Given the description of an element on the screen output the (x, y) to click on. 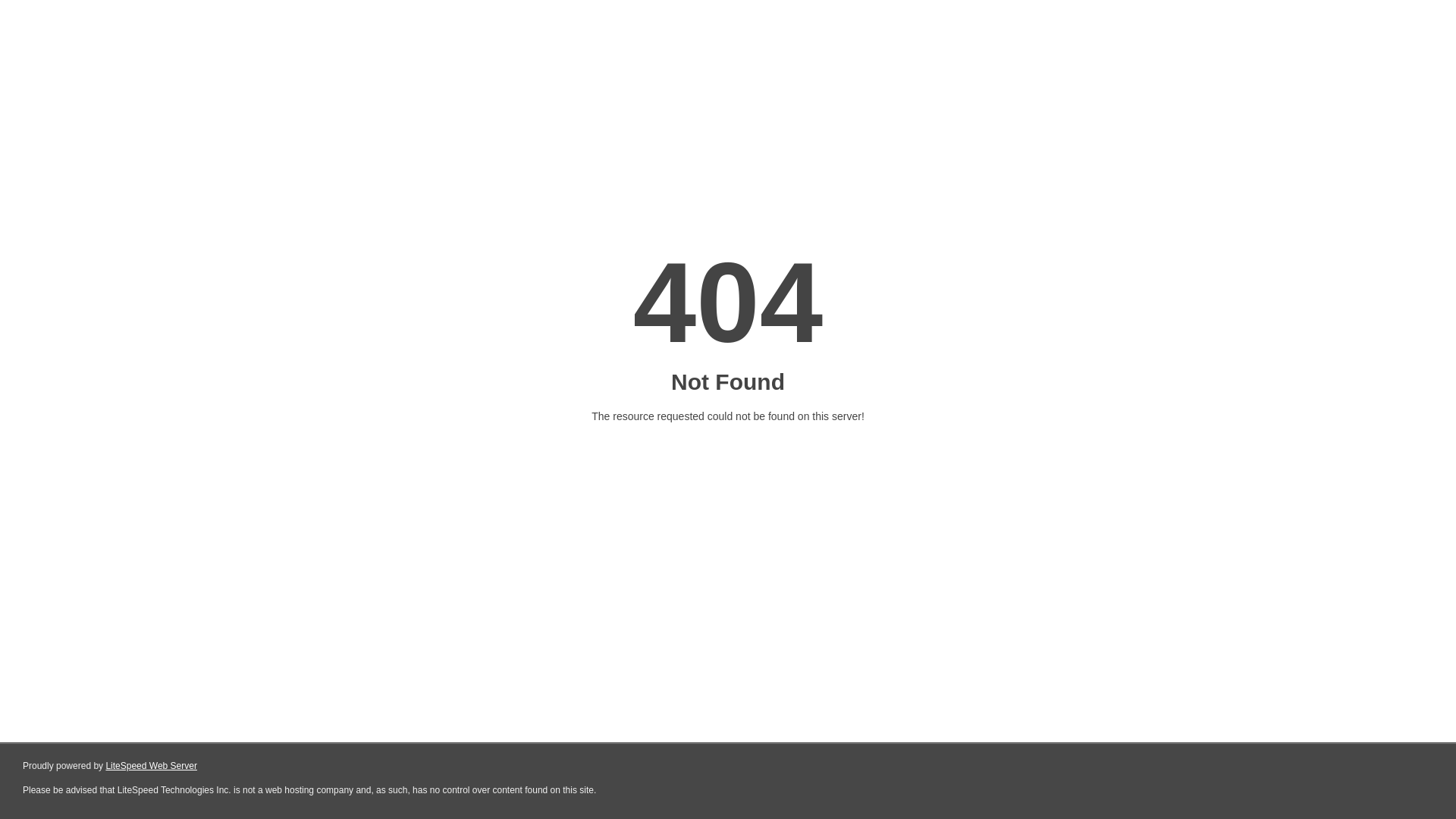
LiteSpeed Web Server Element type: text (151, 765)
